Given the description of an element on the screen output the (x, y) to click on. 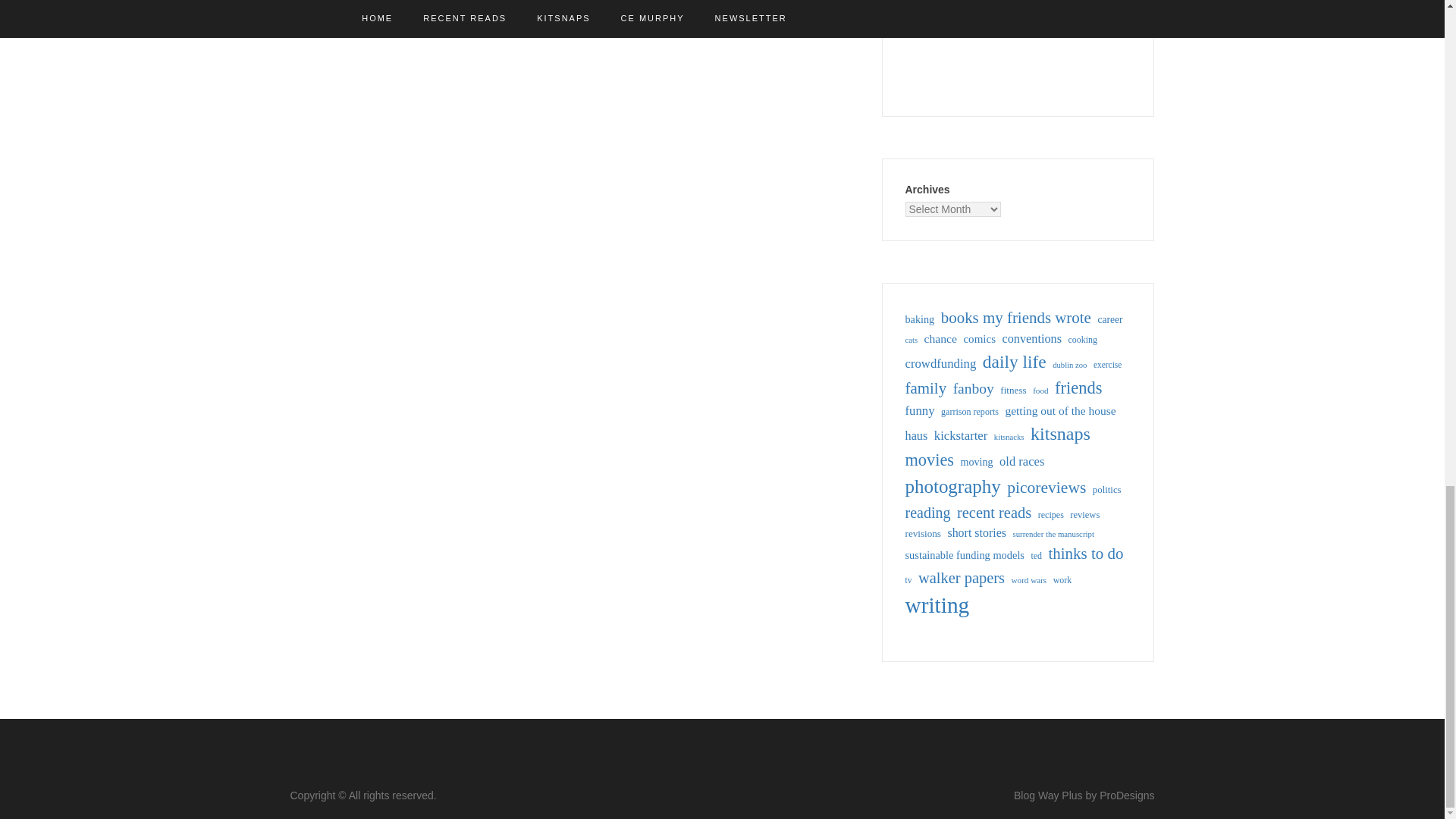
getting out of the house (1059, 410)
chance (940, 338)
dublin zoo (1069, 365)
haus (916, 435)
garrison reports (969, 411)
fanboy (973, 388)
crowdfunding (940, 363)
cats (911, 340)
baking (919, 319)
kitsnaps (1060, 433)
